Given the description of an element on the screen output the (x, y) to click on. 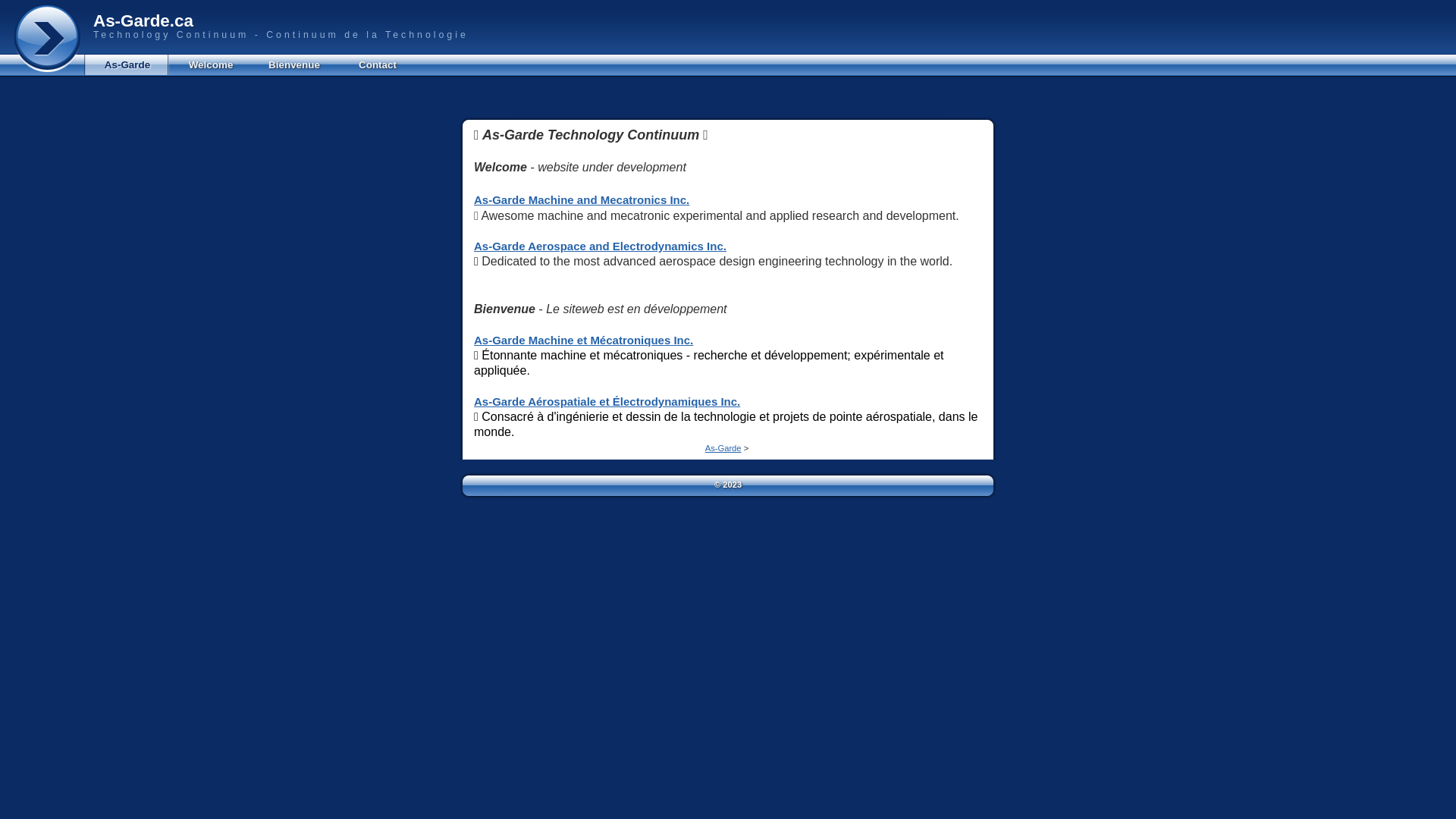
Inc. Element type: text (677, 199)
As-Garde Element type: text (723, 447)
As-Garde Element type: text (127, 68)
Contact Element type: text (377, 68)
Welcome Element type: text (210, 68)
As-Garde Machine and Mecatronics Element type: text (569, 199)
As-Garde Aerospace and Electrodynamics Inc. Element type: text (599, 245)
Bienvenue Element type: text (293, 68)
